Given the description of an element on the screen output the (x, y) to click on. 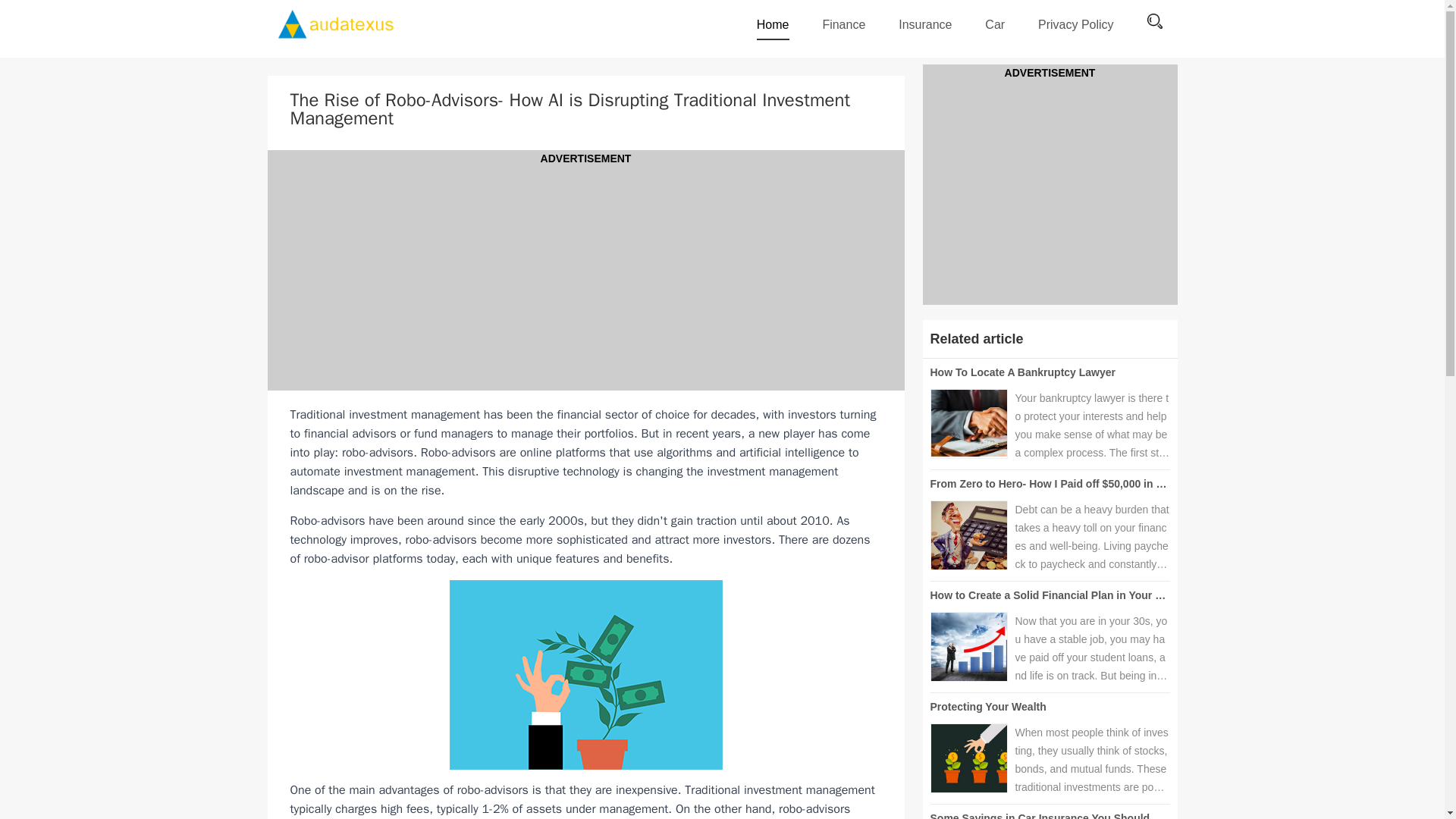
Home (773, 29)
How to Create a Solid Financial Plan in Your 30s (1051, 594)
Insurance (925, 24)
Some Savings in Car Insurance You Should Know (1055, 815)
Advertisement (1048, 187)
Protecting Your Wealth (987, 706)
Finance (843, 24)
How To Locate A Bankruptcy Lawyer (1022, 372)
Car (994, 24)
Privacy Policy (1075, 24)
